Given the description of an element on the screen output the (x, y) to click on. 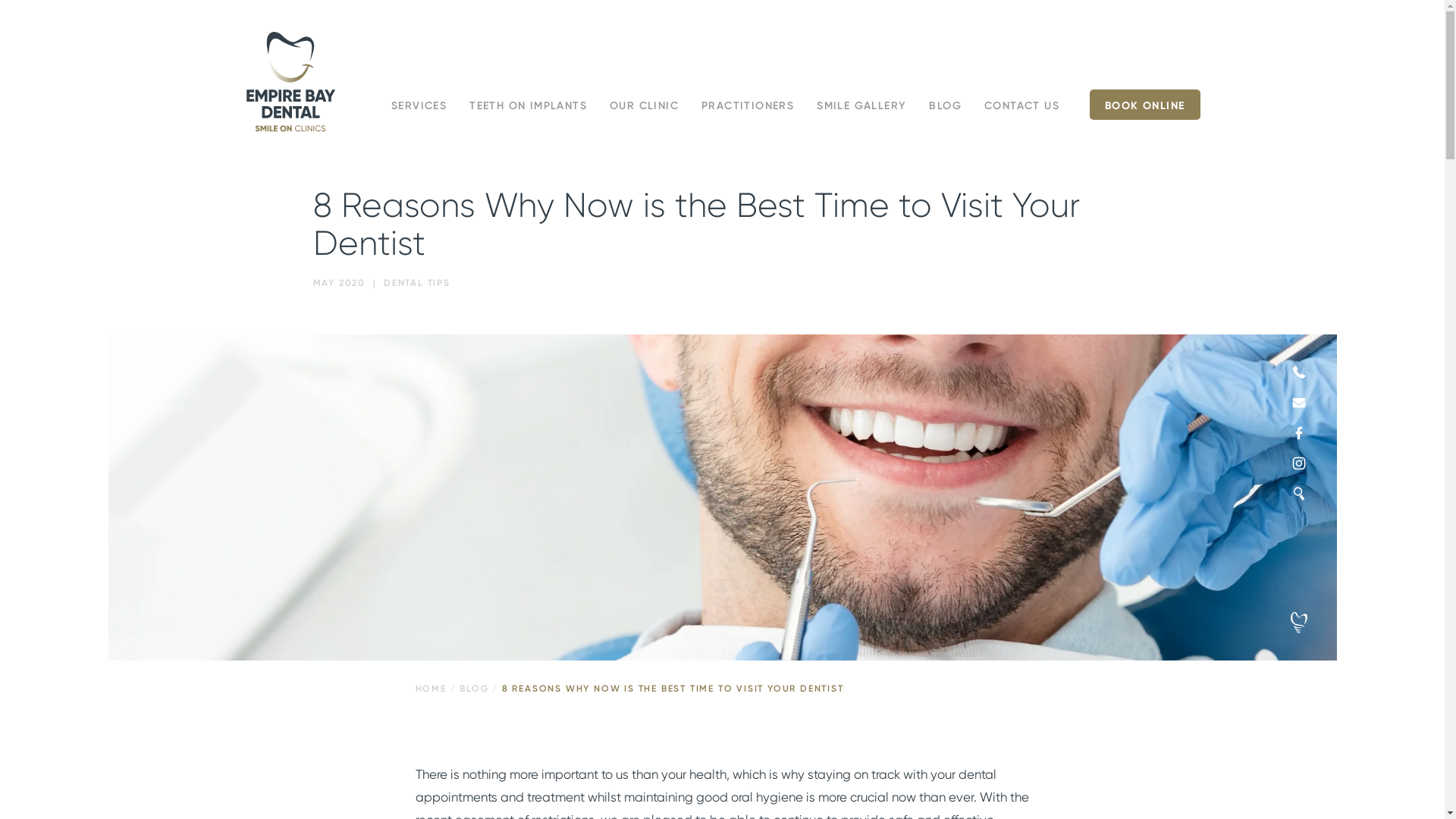
HOME Element type: text (430, 688)
SERVICES Element type: text (418, 105)
CONTACT US Element type: text (1021, 105)
BOOK ONLINE Element type: text (1144, 104)
BLOG Element type: text (945, 105)
TEETH ON IMPLANTS Element type: text (527, 105)
OUR CLINIC Element type: text (644, 105)
DENTAL TIPS Element type: text (416, 282)
PRACTITIONERS Element type: text (747, 105)
Skip to content Element type: text (244, 132)
BLOG Element type: text (473, 688)
SMILE GALLERY Element type: text (861, 105)
